Given the description of an element on the screen output the (x, y) to click on. 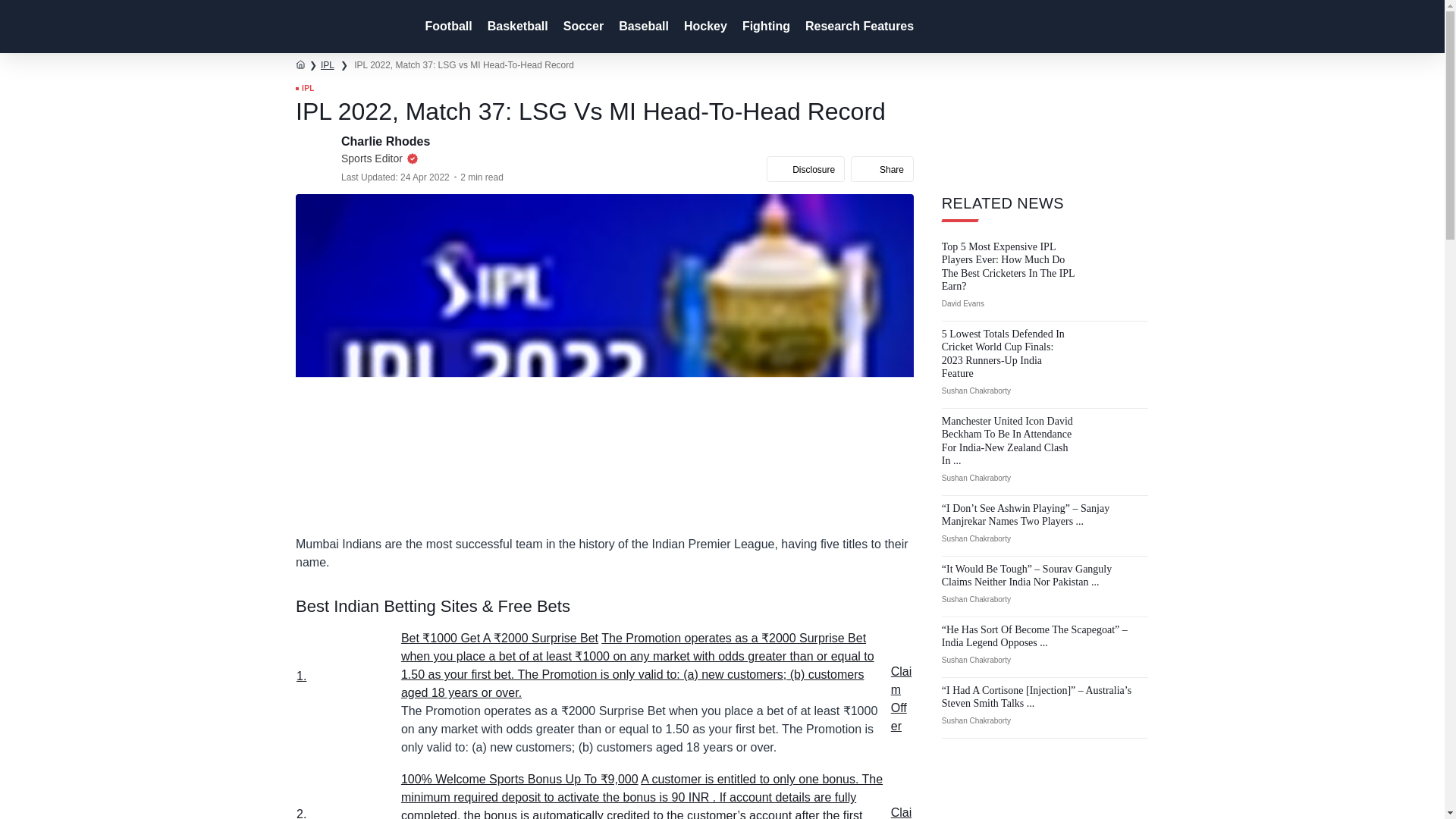
IPL (304, 88)
1. (344, 691)
Baseball (642, 26)
Share (882, 168)
Charlie Rhodes (386, 141)
Research Features (858, 26)
Basketball (516, 26)
Football (445, 26)
2. (347, 813)
IPL (327, 64)
Fighting (764, 26)
Soccer (582, 26)
Claim Offer (901, 812)
Hockey (704, 26)
